Given the description of an element on the screen output the (x, y) to click on. 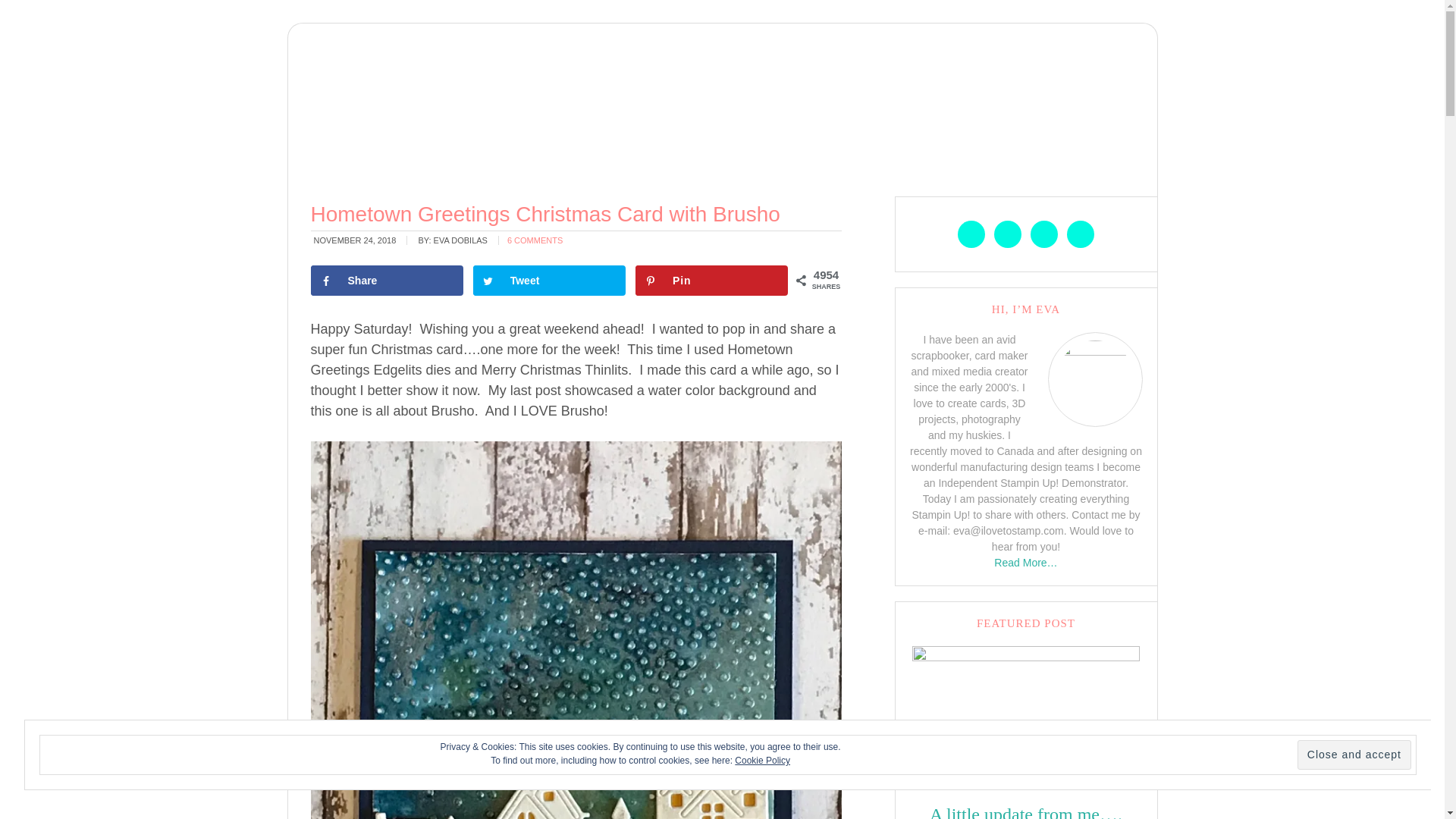
I Love to Stamp (722, 93)
Pin (711, 280)
Save to Pinterest (711, 280)
Share (387, 280)
Tweet (549, 280)
Share on Share (387, 280)
Share on Tweet (549, 280)
6 COMMENTS (534, 239)
Close and accept (1353, 754)
